Given the description of an element on the screen output the (x, y) to click on. 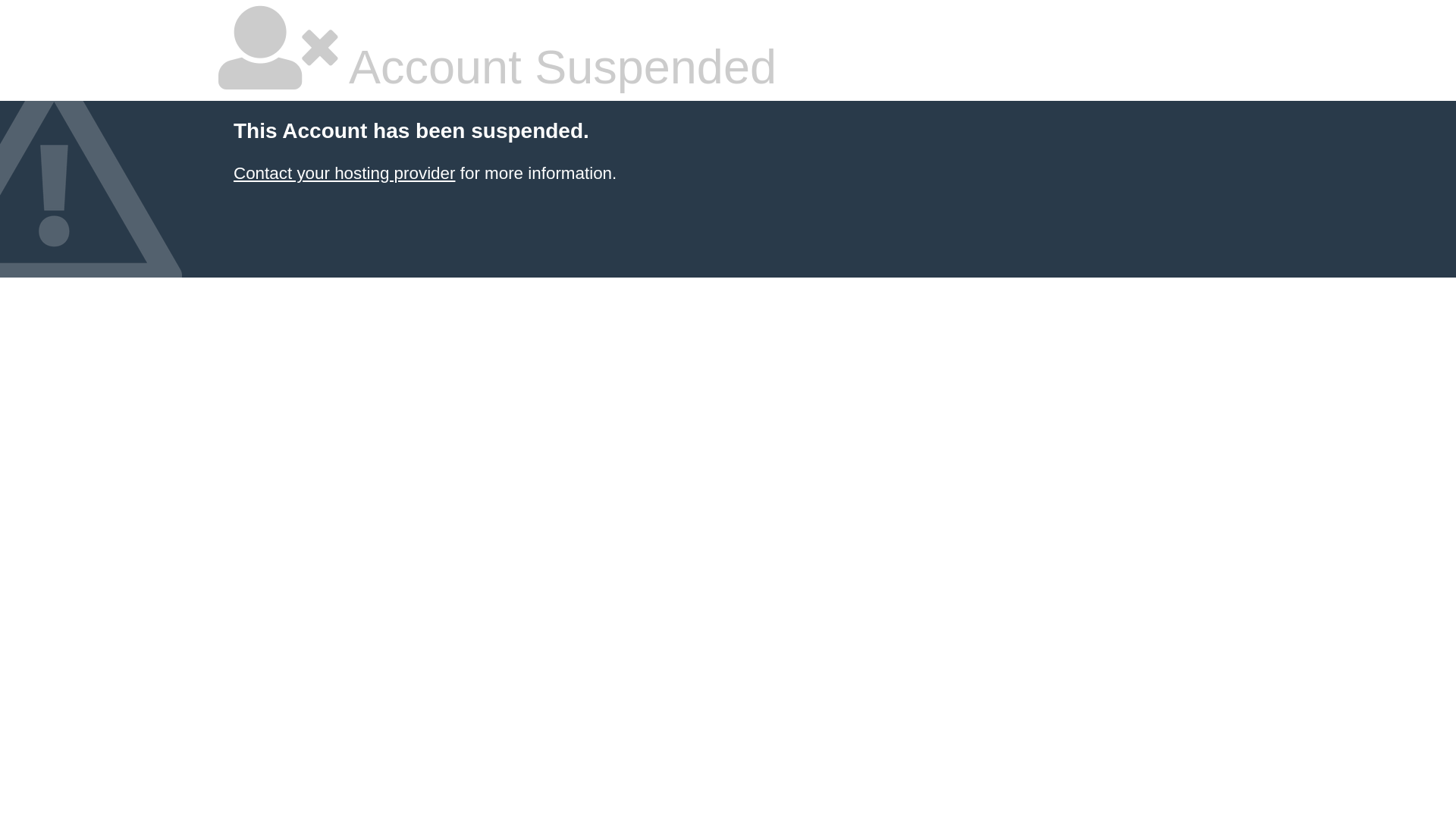
Contact your hosting provider Element type: text (344, 172)
